Given the description of an element on the screen output the (x, y) to click on. 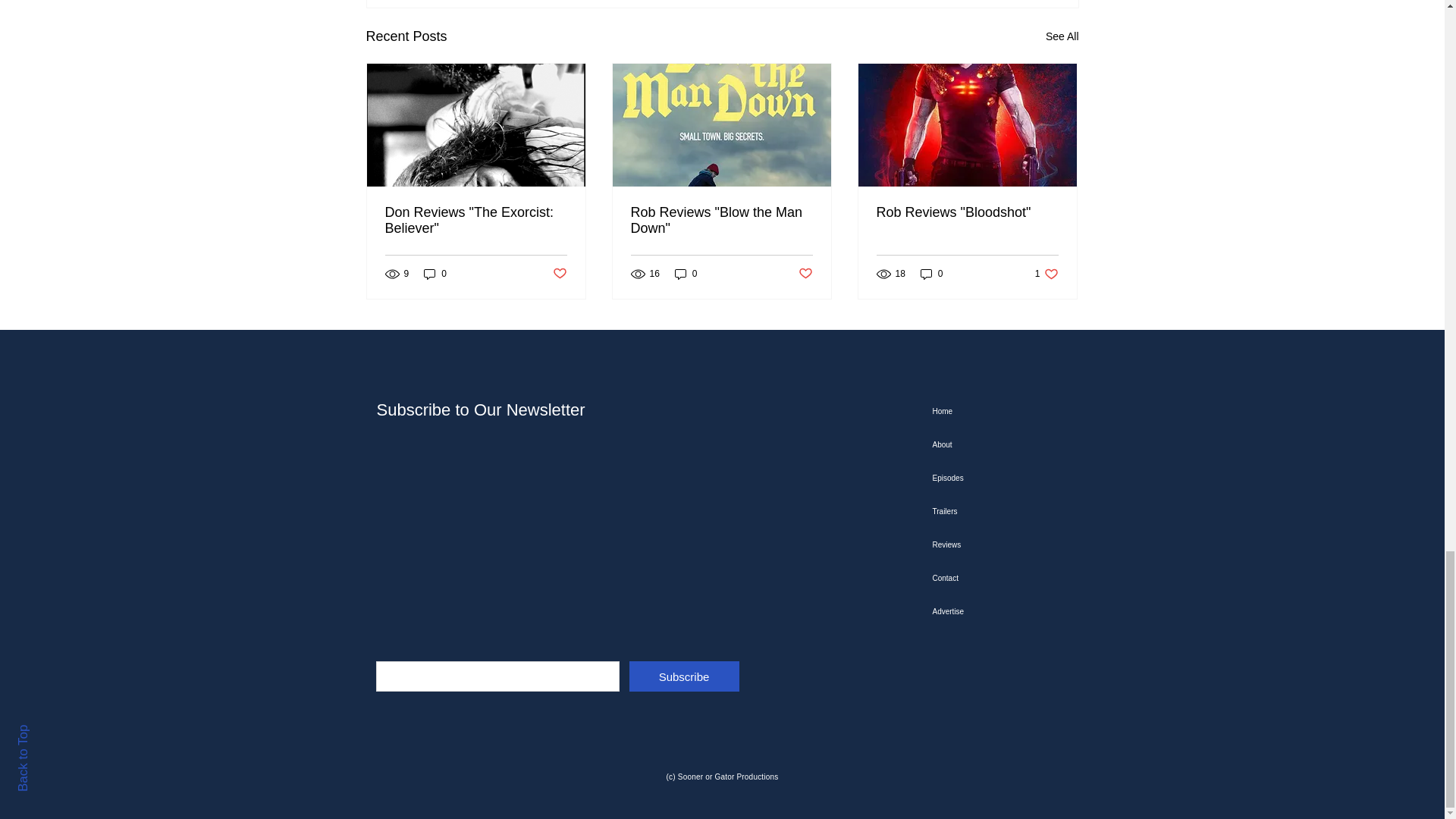
See All (1061, 36)
0 (435, 273)
0 (685, 273)
Post not marked as liked (558, 273)
Don Reviews "The Exorcist: Believer" (476, 220)
0 (931, 273)
Rob Reviews "Bloodshot" (967, 212)
Rob Reviews "Blow the Man Down" (721, 220)
Post not marked as liked (1046, 273)
